Given the description of an element on the screen output the (x, y) to click on. 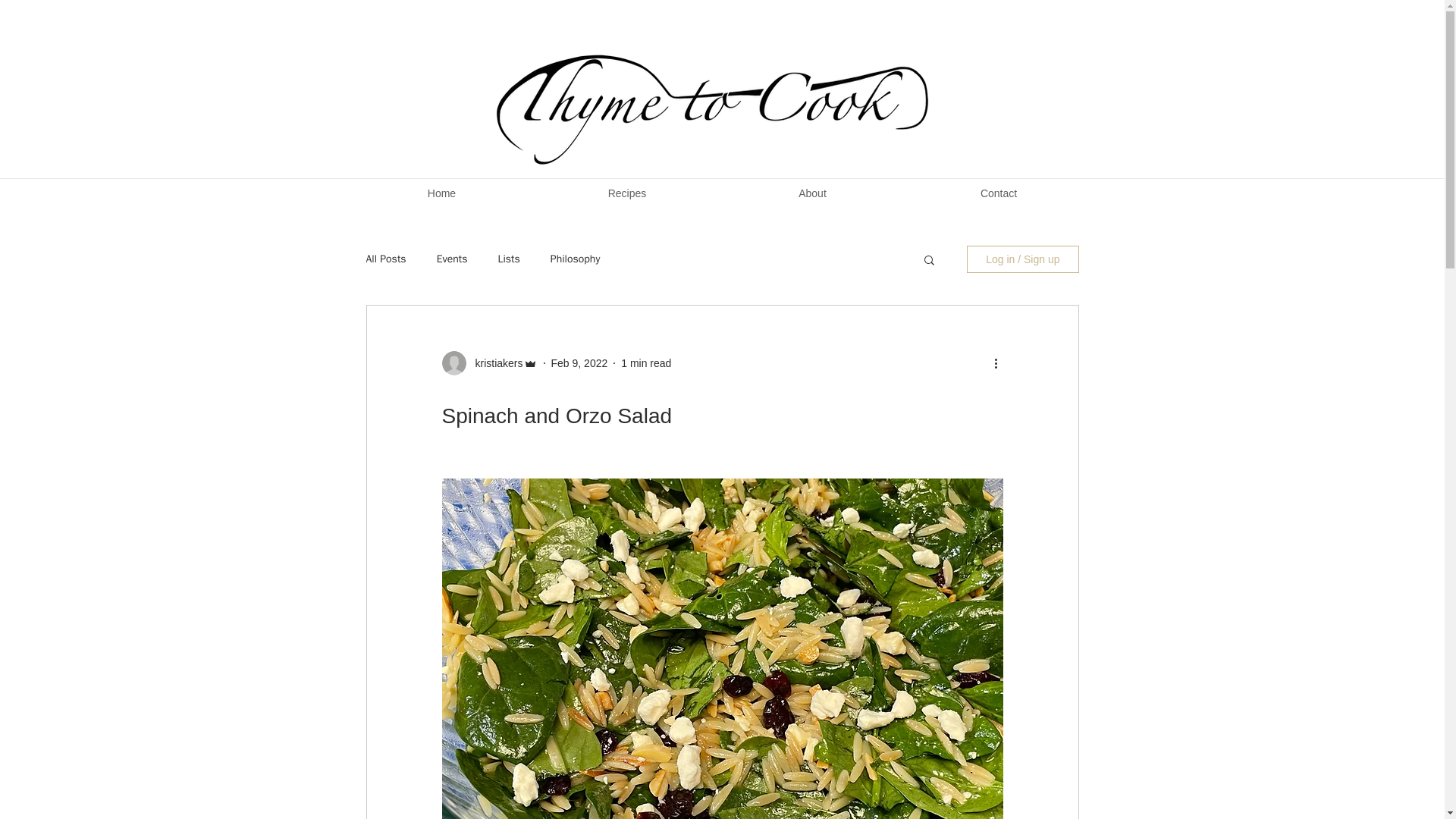
Home (441, 193)
Recipes (626, 193)
Events (451, 259)
Philosophy (574, 259)
Feb 9, 2022 (579, 362)
1 min read (646, 362)
About (813, 193)
kristiakers (493, 362)
Contact (999, 193)
All Posts (385, 259)
Lists (508, 259)
